Given the description of an element on the screen output the (x, y) to click on. 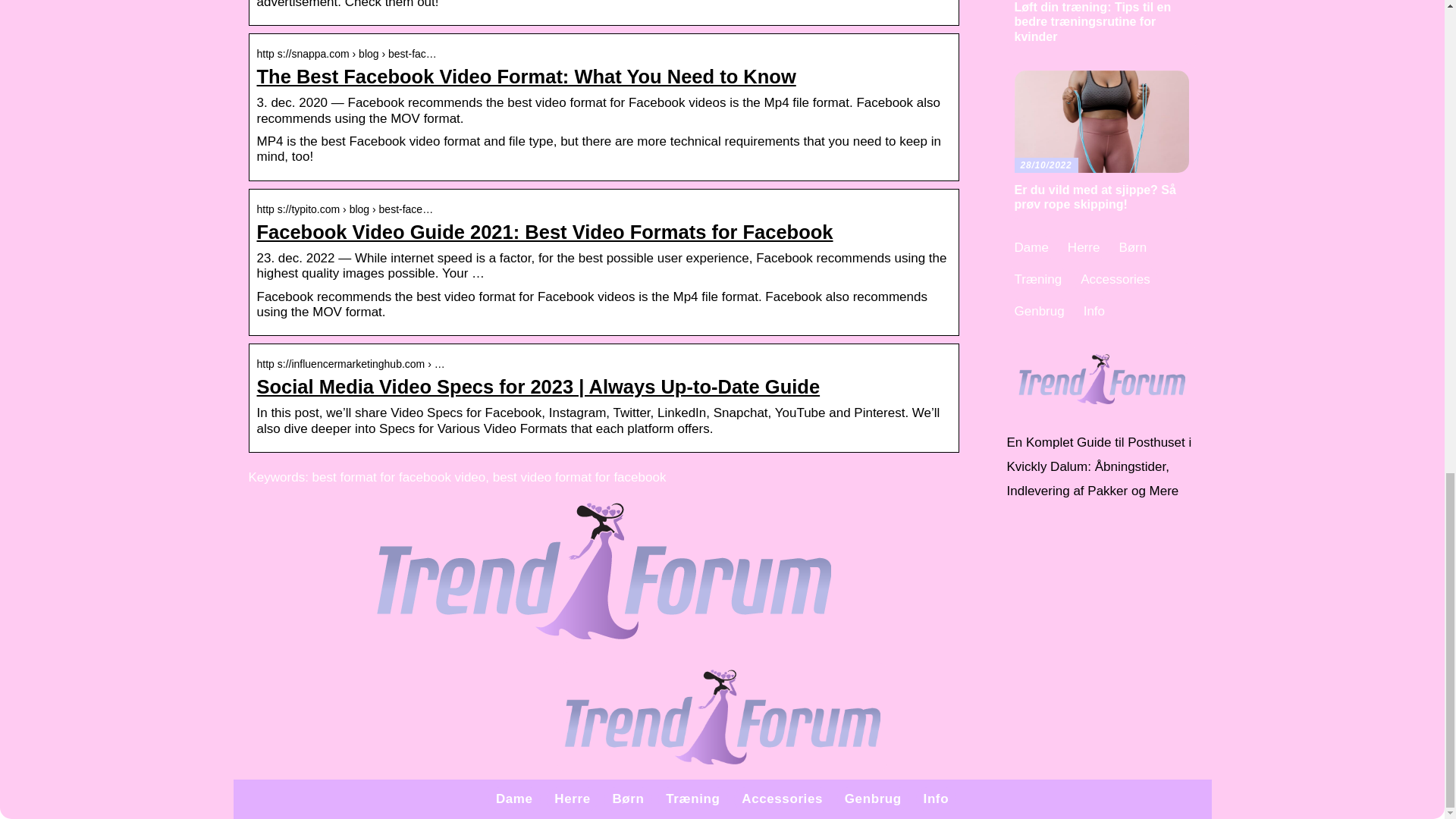
Info (936, 798)
Genbrug (872, 798)
Dame (514, 798)
Herre (571, 798)
Accessories (781, 798)
